Given the description of an element on the screen output the (x, y) to click on. 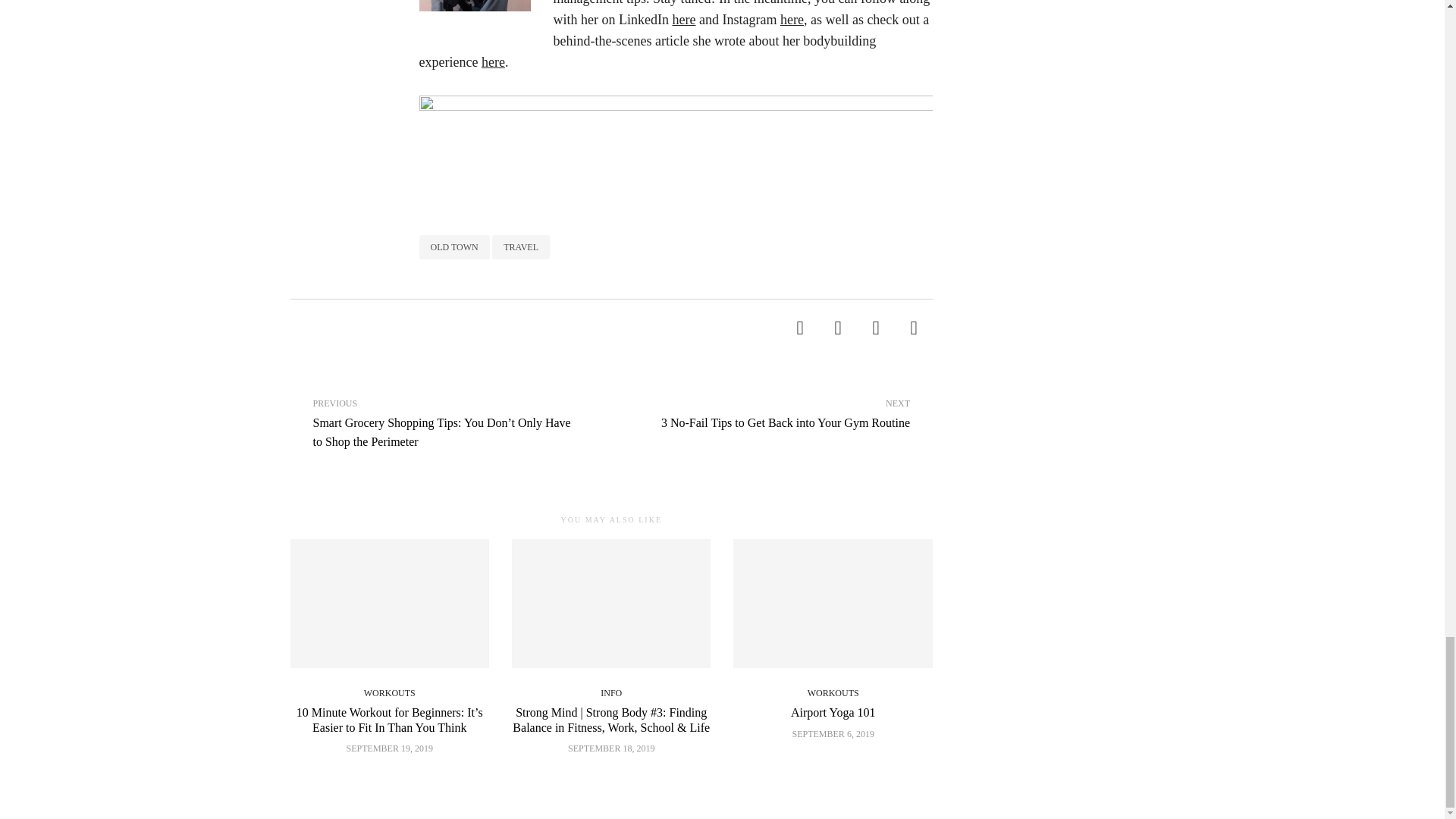
Pin this (914, 327)
Share this (799, 327)
Tweet this (837, 327)
Share with Google Plus (876, 327)
